Given the description of an element on the screen output the (x, y) to click on. 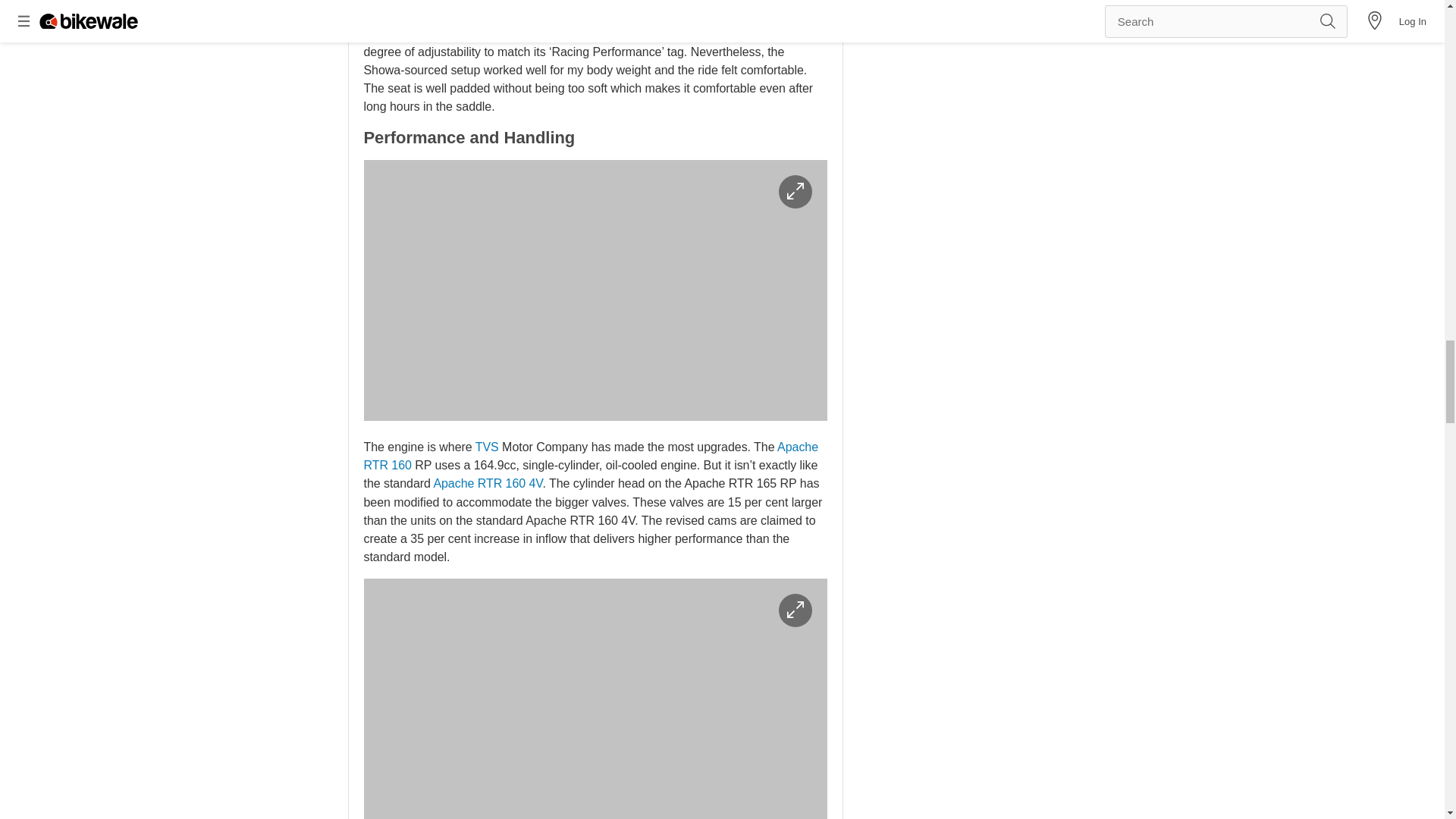
TVS Apache RTR 165RP Engine From Left (595, 698)
TVS (487, 446)
TVS Apache RTR 165RP Right Front Three Quarter (595, 289)
Apache RTR 160 4V (486, 482)
Apache RTR 160 (591, 455)
